Given the description of an element on the screen output the (x, y) to click on. 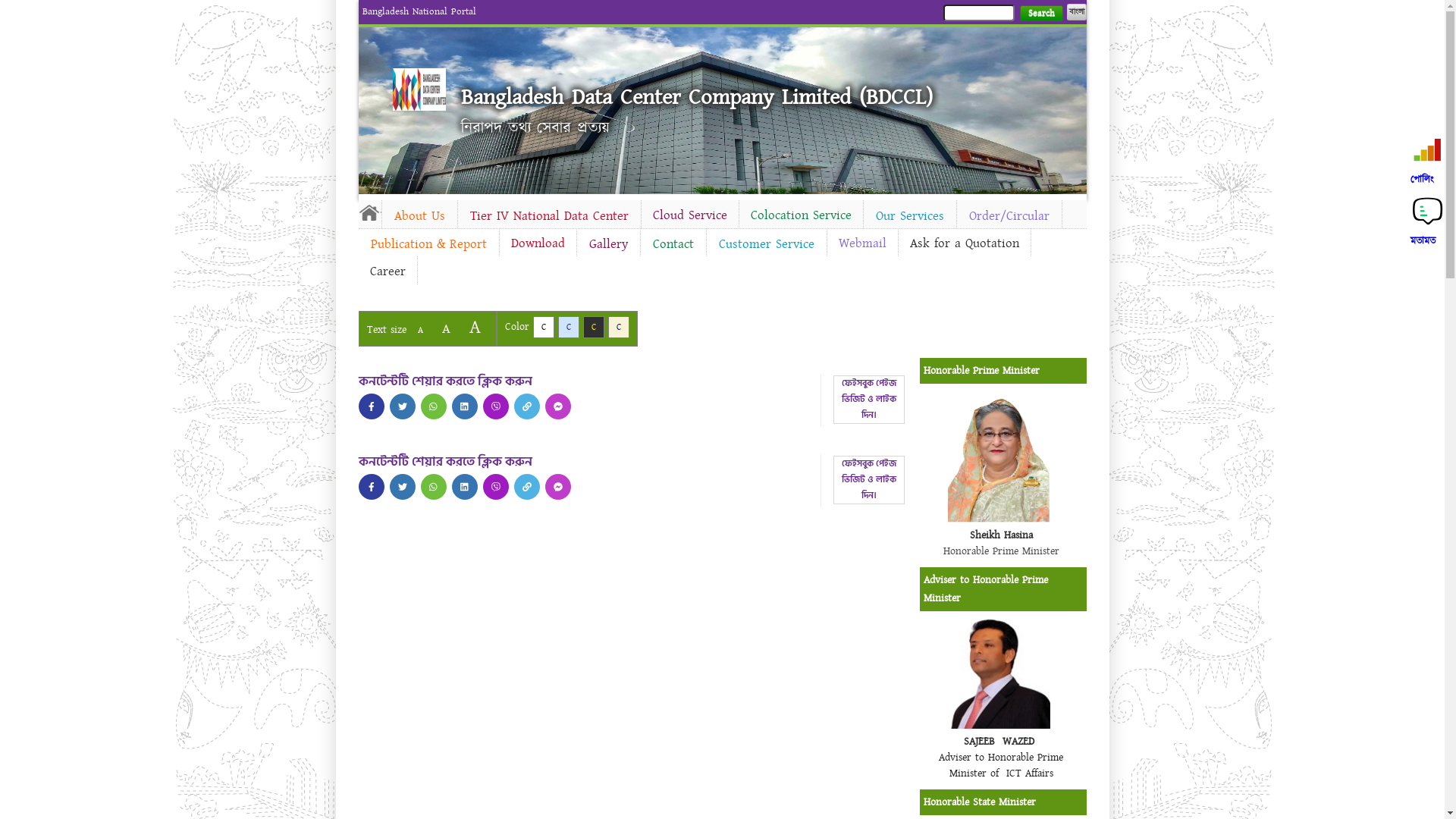
Home Element type: hover (418, 89)
Cloud Service Element type: text (689, 215)
Download Element type: text (536, 243)
Order/Circular Element type: text (1009, 216)
About Us Element type: text (419, 216)
Search Element type: text (1040, 13)
C Element type: text (542, 327)
Ask for a Quotation Element type: text (963, 243)
Bangladesh Data Center Company Limited (BDCCL) Element type: text (696, 96)
Colocation Service Element type: text (800, 215)
Bangladesh National Portal Element type: text (419, 11)
A Element type: text (474, 327)
Publication & Report Element type: text (427, 244)
Home Element type: hover (368, 211)
Gallery Element type: text (607, 244)
C Element type: text (568, 327)
Customer Service Element type: text (766, 244)
C Element type: text (618, 327)
Our Services Element type: text (908, 216)
Contact Element type: text (672, 244)
A Element type: text (419, 330)
Tier IV National Data Center Element type: text (549, 216)
Career Element type: text (386, 271)
A Element type: text (445, 328)
Webmail Element type: text (861, 243)
C Element type: text (592, 327)
